Given the description of an element on the screen output the (x, y) to click on. 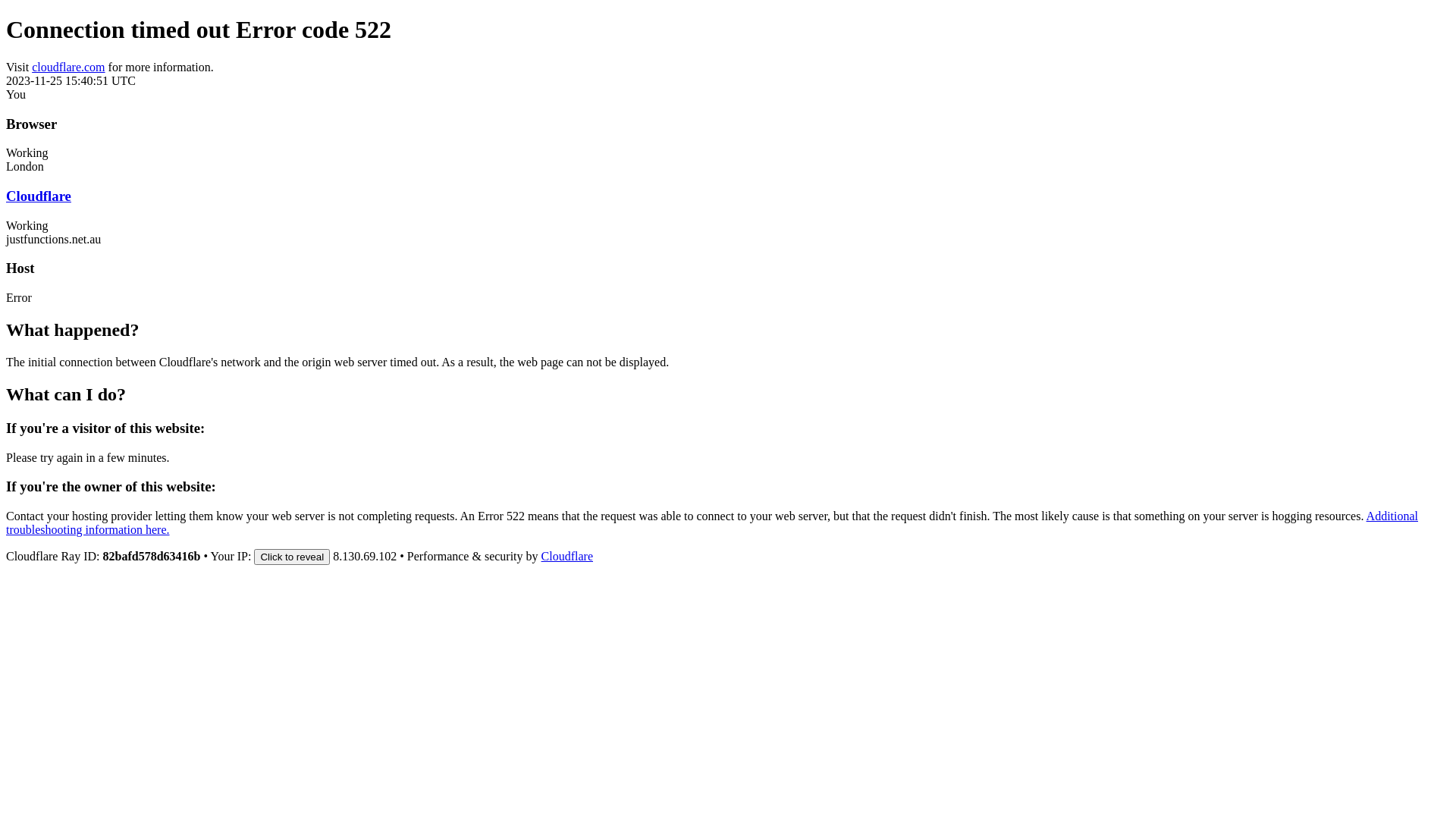
Additional troubleshooting information here. Element type: text (712, 522)
Cloudflare Element type: text (38, 195)
cloudflare.com Element type: text (67, 66)
Click to reveal Element type: text (291, 556)
Cloudflare Element type: text (567, 555)
